Given the description of an element on the screen output the (x, y) to click on. 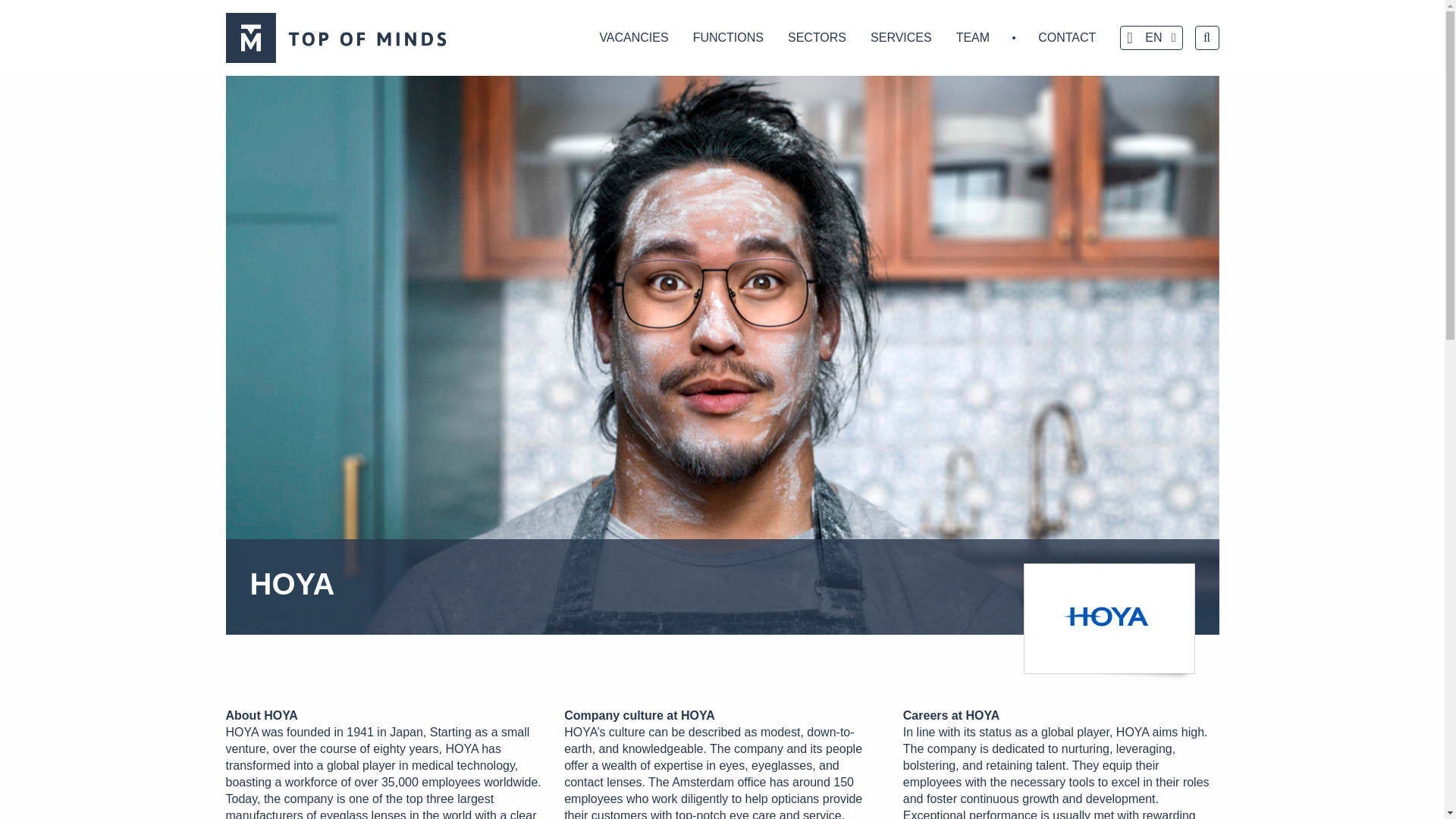
SECTORS (817, 38)
Top of Minds logo (341, 38)
FUNCTIONS (728, 38)
VACANCIES (632, 38)
SERVICES (901, 38)
